Given the description of an element on the screen output the (x, y) to click on. 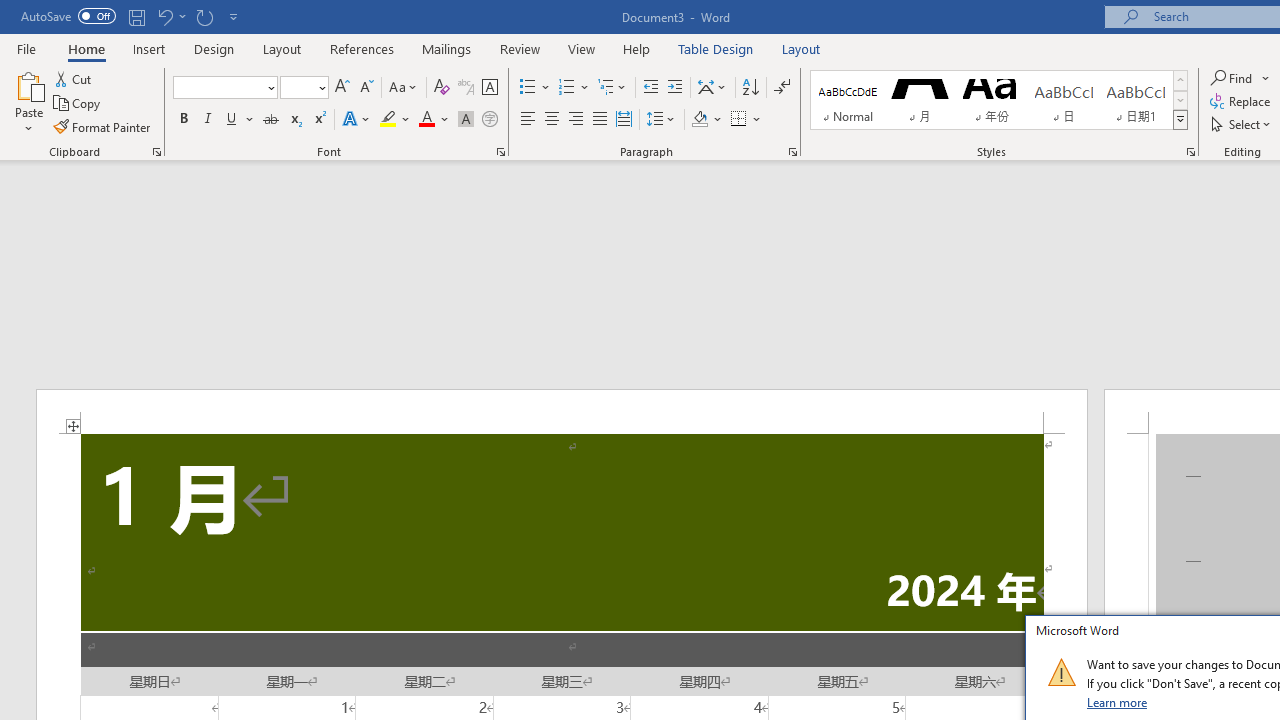
Font Color RGB(255, 0, 0) (426, 119)
